Given the description of an element on the screen output the (x, y) to click on. 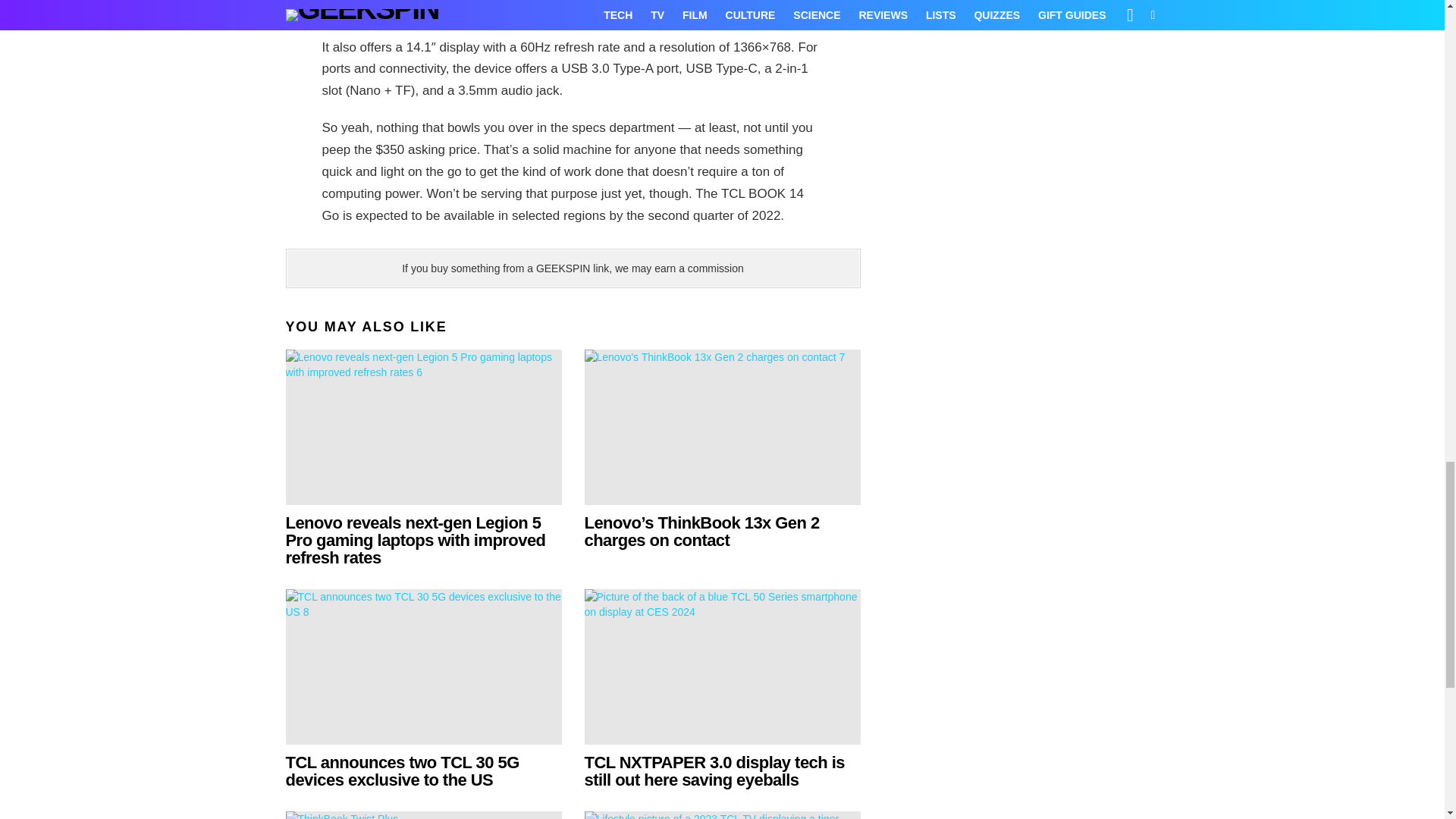
TCL announces two TCL 30 5G devices exclusive to the US (401, 770)
The TCL BOOK 14 Go is the company's first laptop 5 (572, 11)
TCL announces two TCL 30 5G devices exclusive to the US (422, 666)
